Given the description of an element on the screen output the (x, y) to click on. 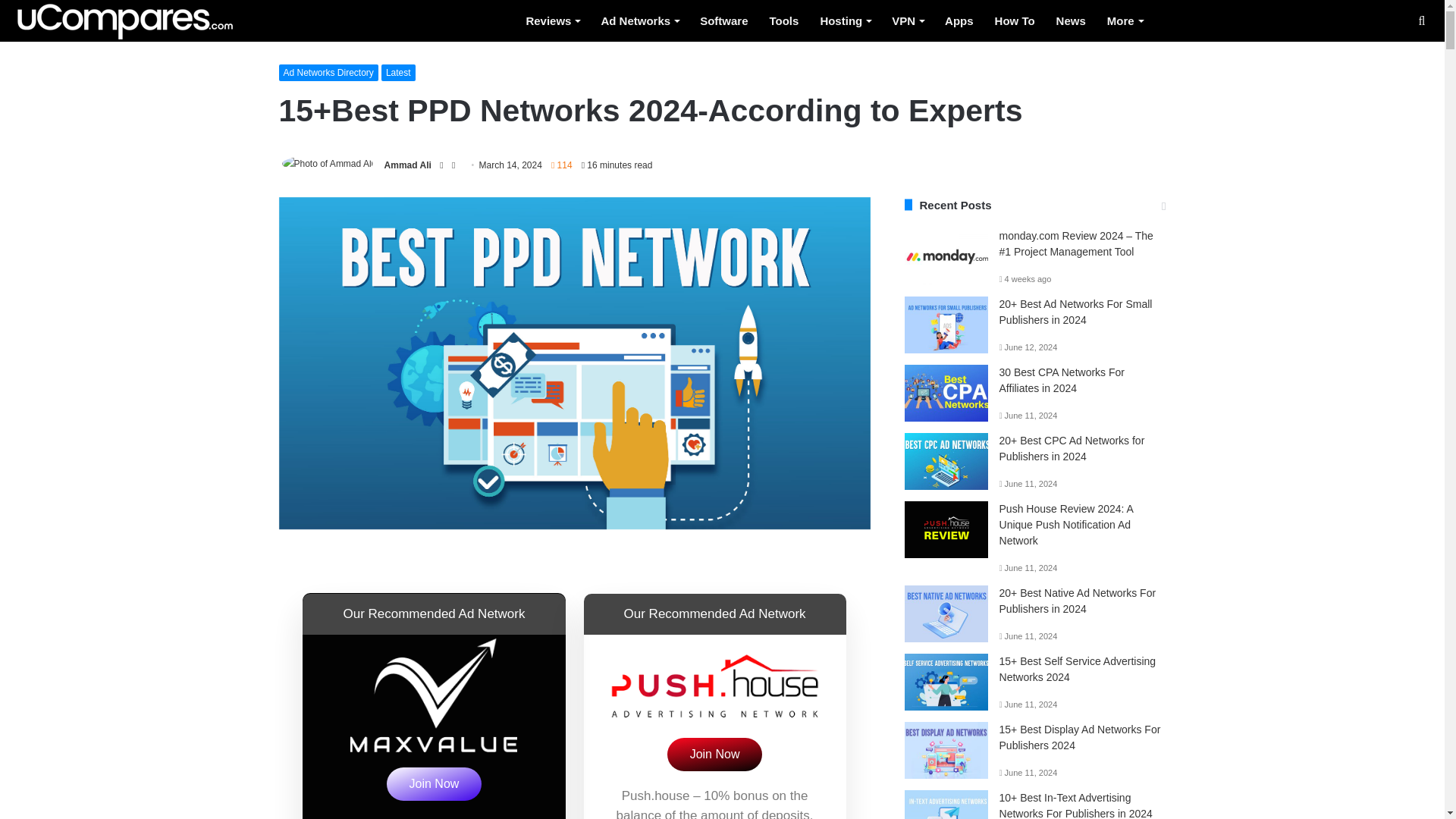
Send an email (453, 160)
Ad Networks (638, 20)
Reviews (552, 20)
Follow on Twitter (442, 160)
Tools (783, 20)
Software (723, 20)
Ammad Ali (407, 160)
uCompares.com (124, 21)
Hosting (844, 20)
